Given the description of an element on the screen output the (x, y) to click on. 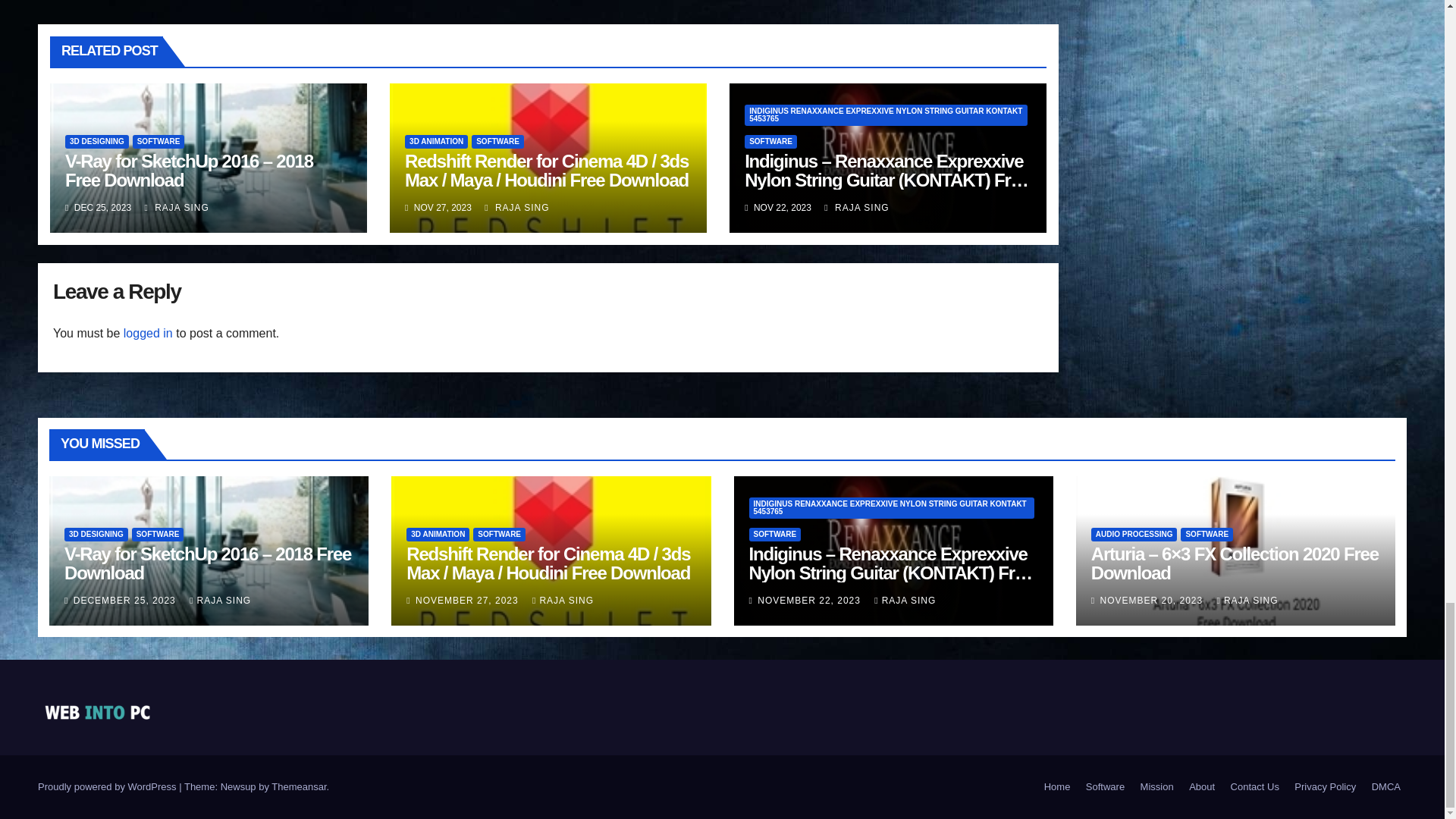
SOFTWARE (770, 141)
RAJA SING (516, 207)
SOFTWARE (158, 141)
3D ANIMATION (435, 141)
RAJA SING (856, 207)
Home (1057, 786)
RAJA SING (176, 207)
SOFTWARE (497, 141)
3D DESIGNING (97, 141)
